Given the description of an element on the screen output the (x, y) to click on. 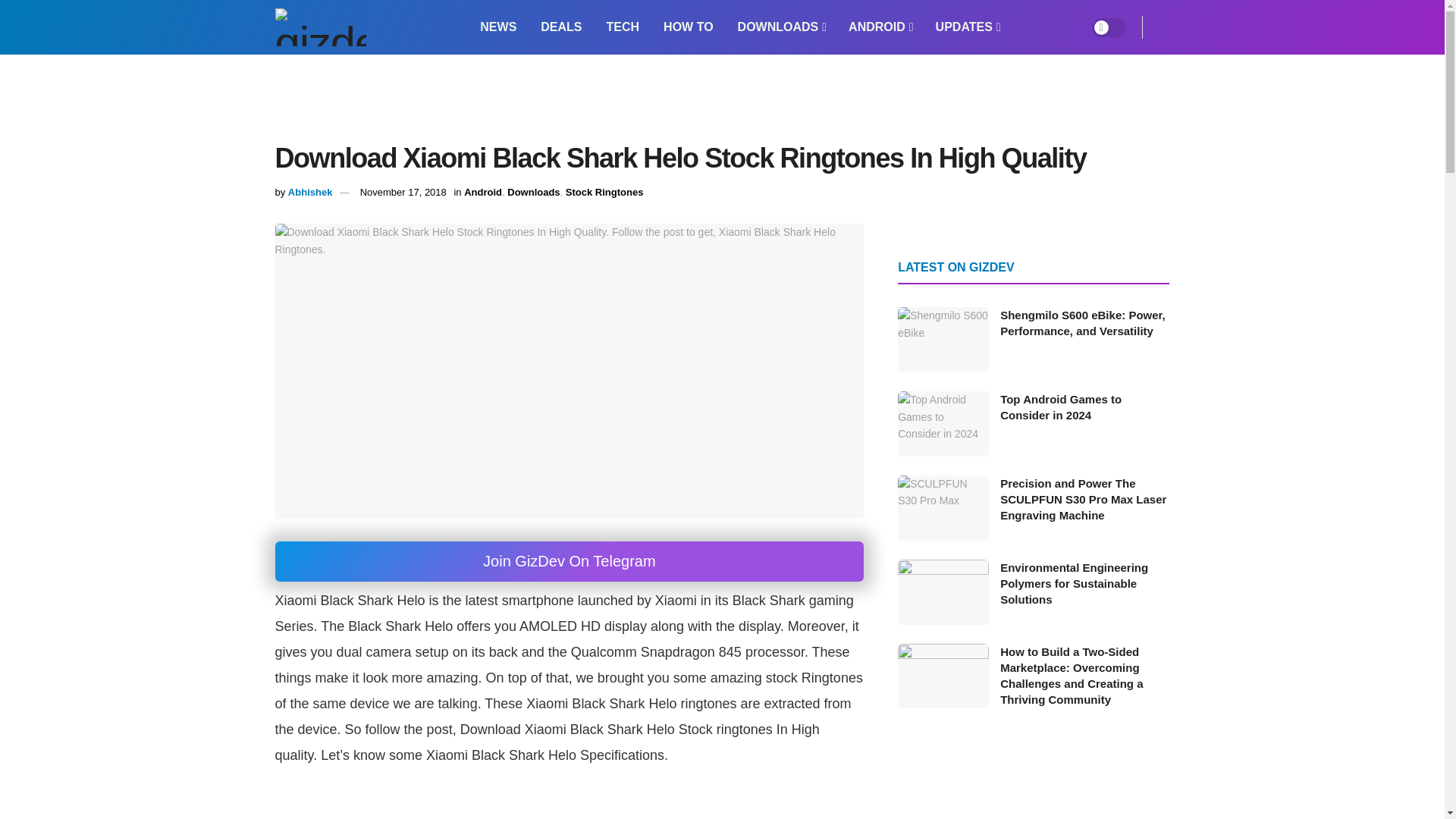
NEWS (497, 27)
Android (483, 192)
DEALS (561, 27)
TECH (623, 27)
November 17, 2018 (402, 192)
Downloads (532, 192)
UPDATES (966, 27)
Abhishek (310, 192)
DOWNLOADS (781, 27)
HOW TO (687, 27)
Join GizDev On Telegram (569, 561)
Stock Ringtones (604, 192)
ANDROID (879, 27)
